Given the description of an element on the screen output the (x, y) to click on. 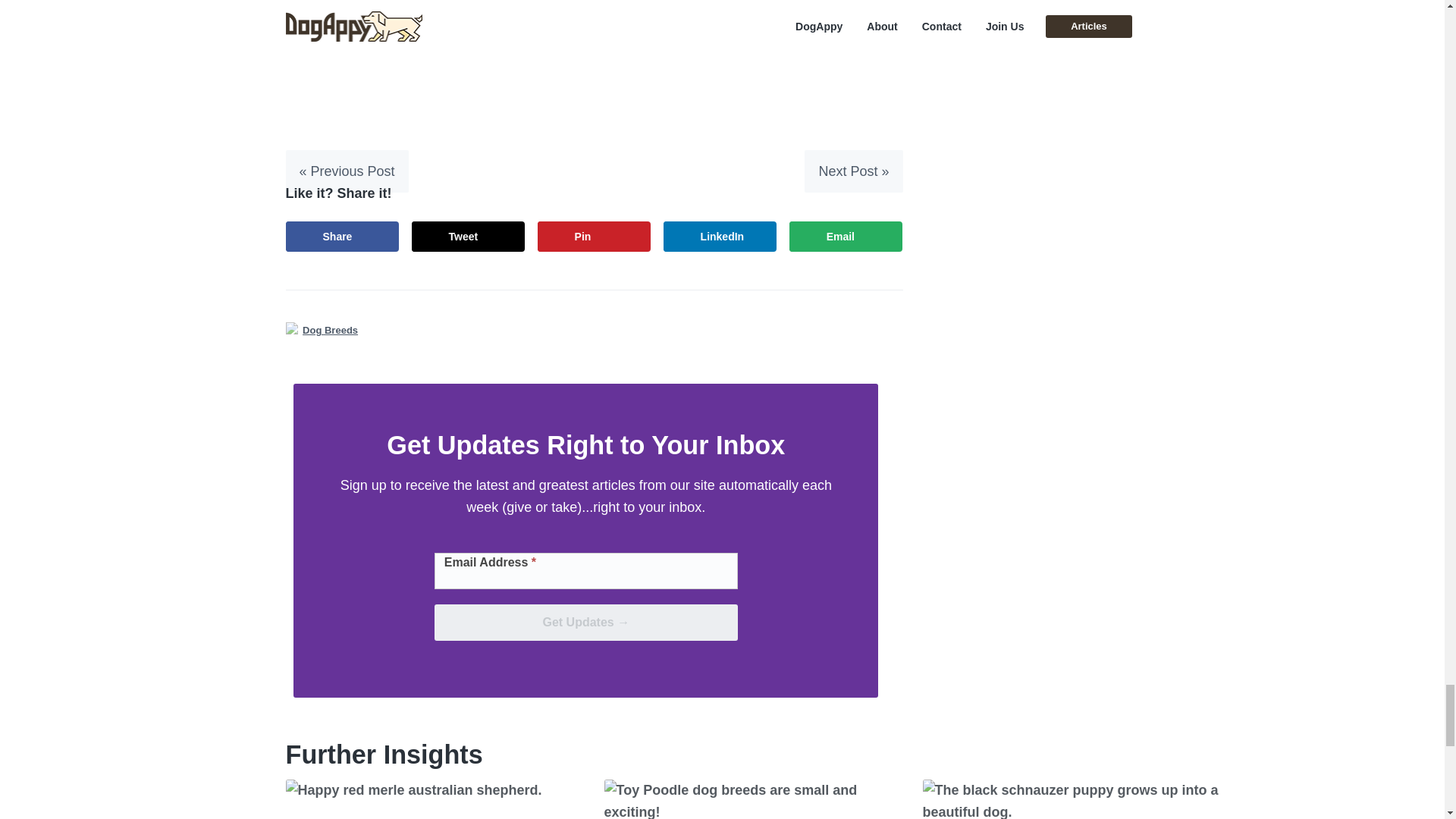
Permanent Link to Are There Different Toy Poodle Dog Breeds? (755, 799)
Share (341, 236)
Share on LinkedIn (720, 236)
Pin (593, 236)
Send over email (845, 236)
LinkedIn (720, 236)
Save to Pinterest (593, 236)
Email (845, 236)
Share on Facebook (341, 236)
